Given the description of an element on the screen output the (x, y) to click on. 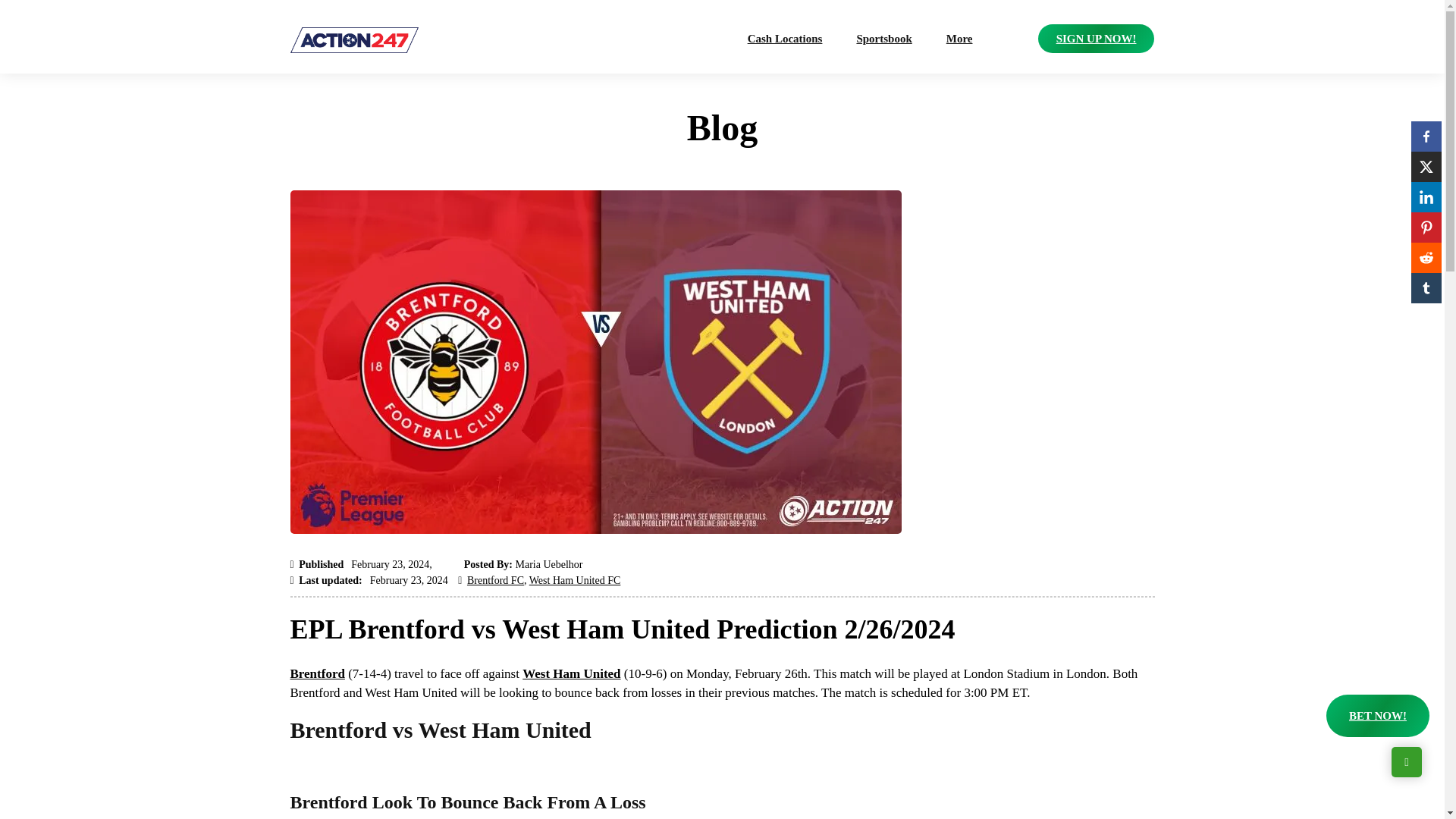
More (959, 38)
Linkedin (1425, 196)
West Ham United (571, 673)
Reddit (1425, 257)
SIGN UP NOW! (1096, 38)
Brentford (316, 673)
West Ham United FC (575, 580)
Cash Locations (785, 38)
Facebook (1425, 136)
Brentford FC (495, 580)
